Given the description of an element on the screen output the (x, y) to click on. 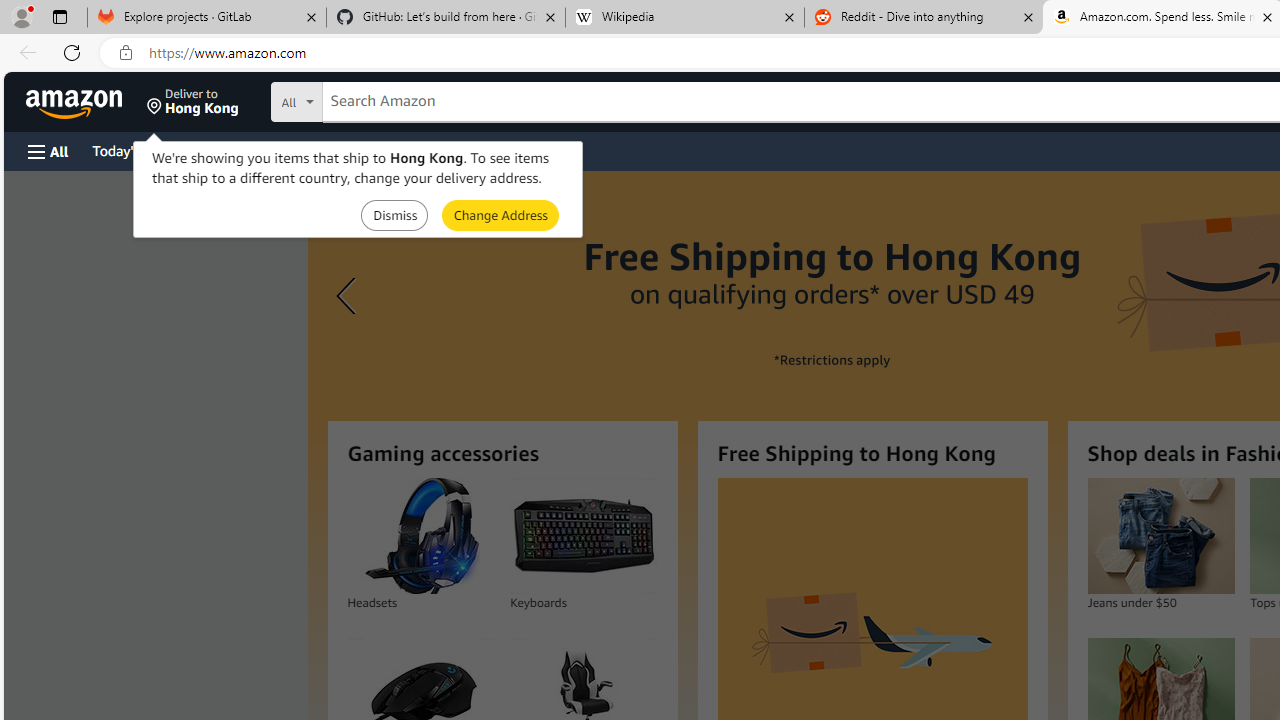
Customer Service (256, 150)
Deliver to Hong Kong (193, 101)
Search in (371, 102)
Gift Cards (442, 150)
Skip to main content (86, 100)
Today's Deals (134, 150)
Submit (499, 214)
Headsets (420, 536)
Previous slide (349, 296)
Jeans under $50 (1160, 536)
Jeans under $50 (1160, 536)
